Given the description of an element on the screen output the (x, y) to click on. 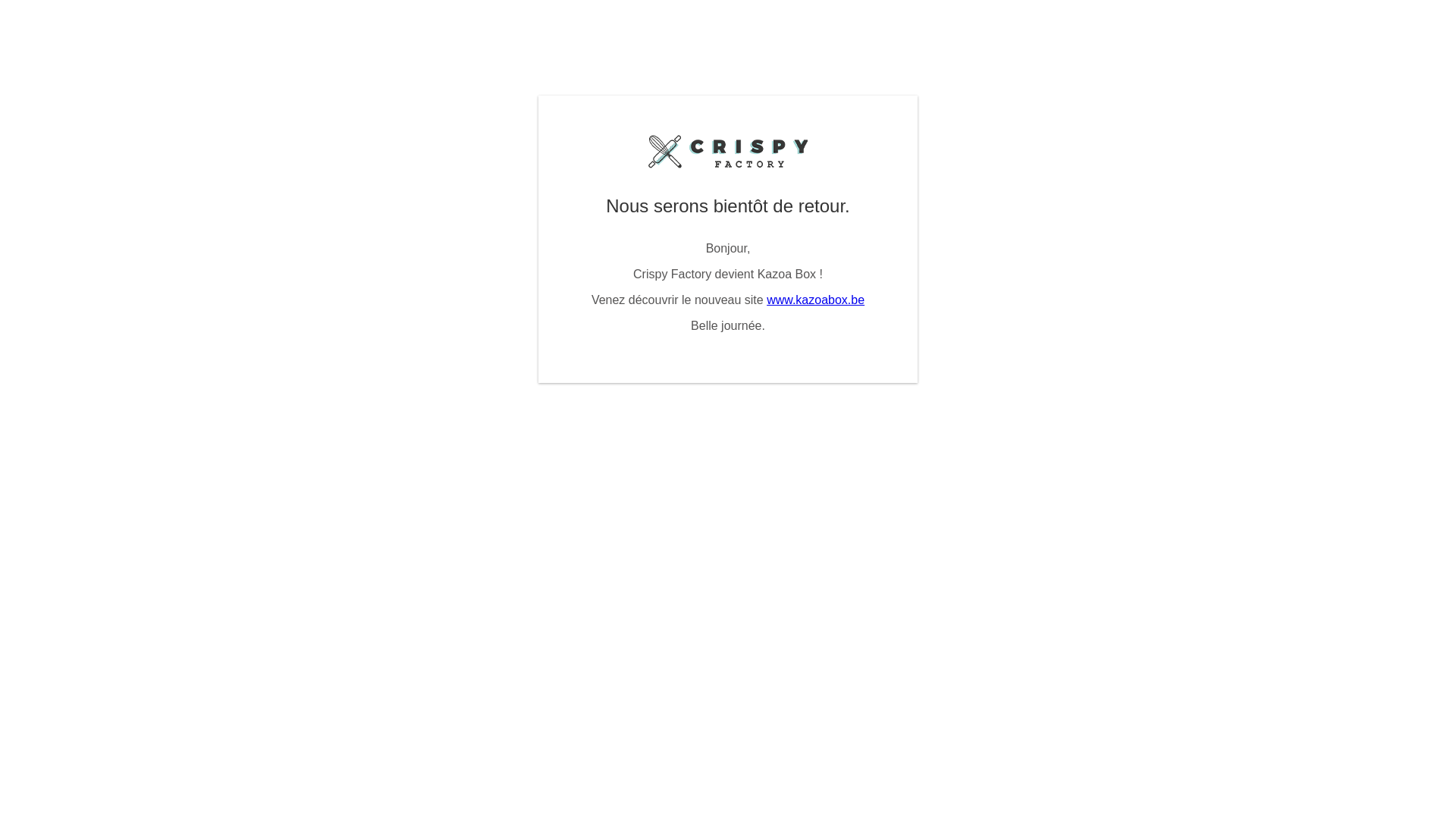
www.kazoabox.be Element type: text (815, 299)
